Given the description of an element on the screen output the (x, y) to click on. 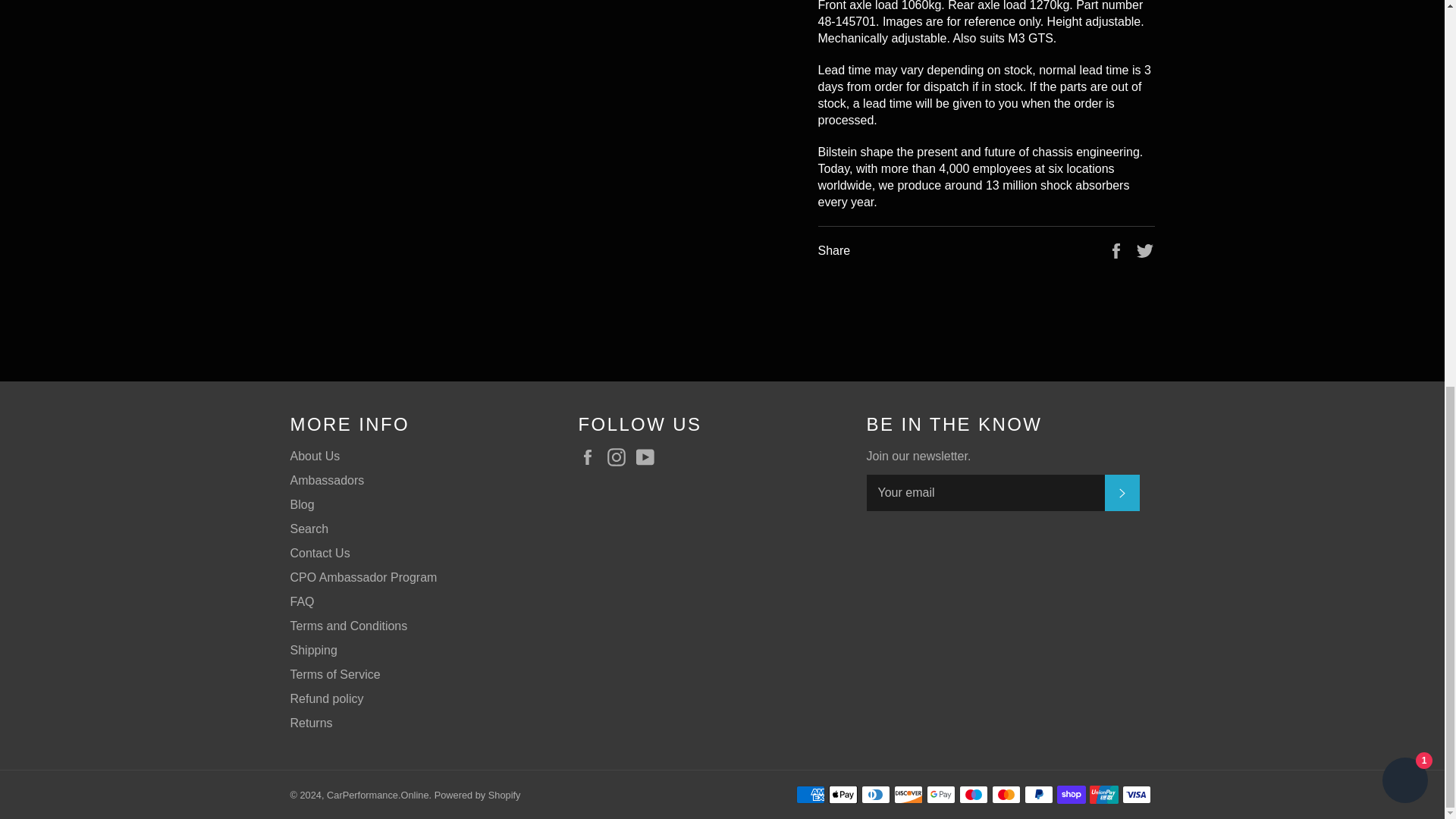
CarPerformance.Online on Facebook (591, 456)
CarPerformance.Online on YouTube (649, 456)
Share on Facebook (1117, 249)
Shopify online store chat (1404, 51)
Tweet on Twitter (1144, 249)
CarPerformance.Online on Instagram (620, 456)
